Given the description of an element on the screen output the (x, y) to click on. 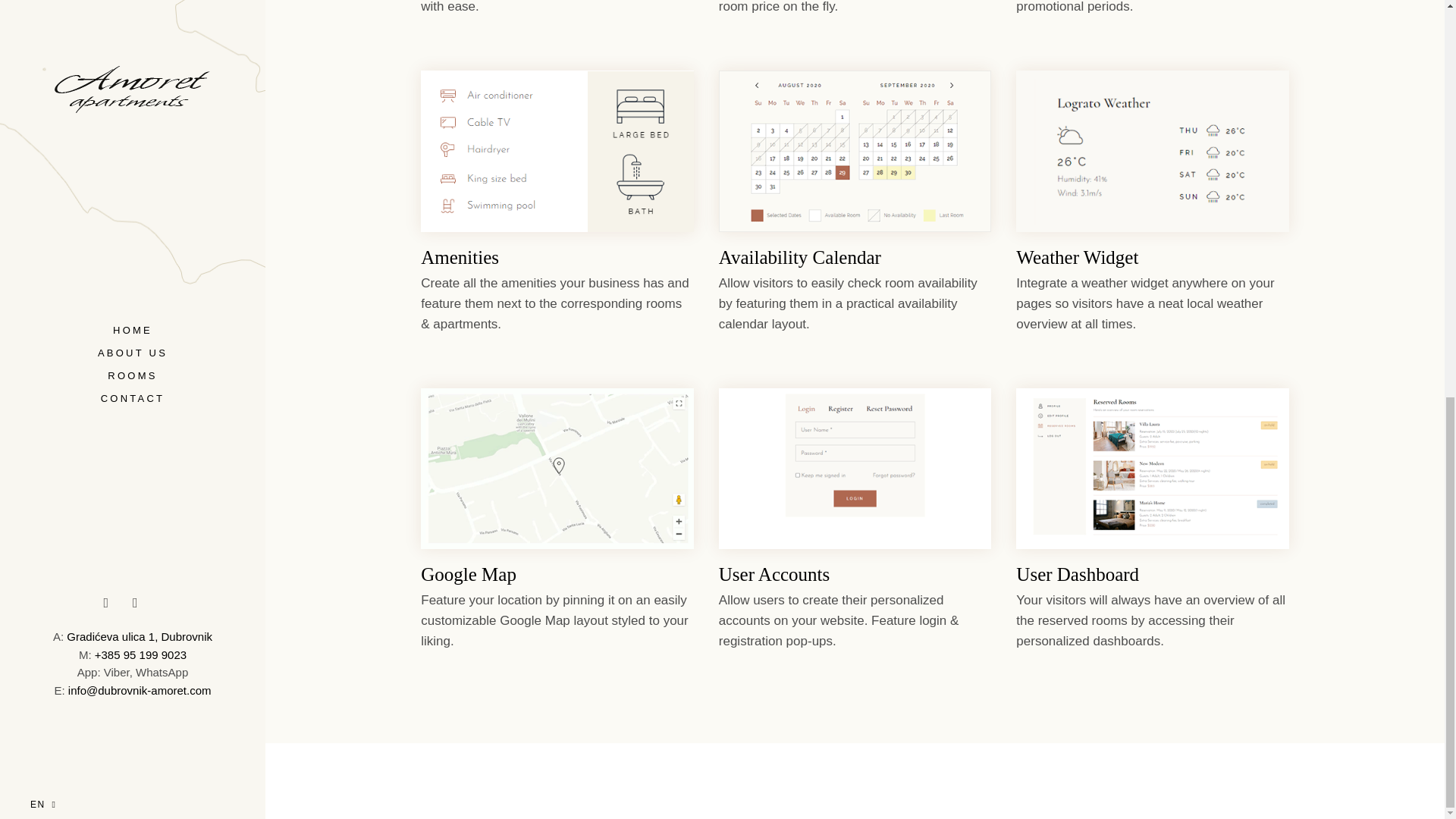
EN (43, 34)
